Given the description of an element on the screen output the (x, y) to click on. 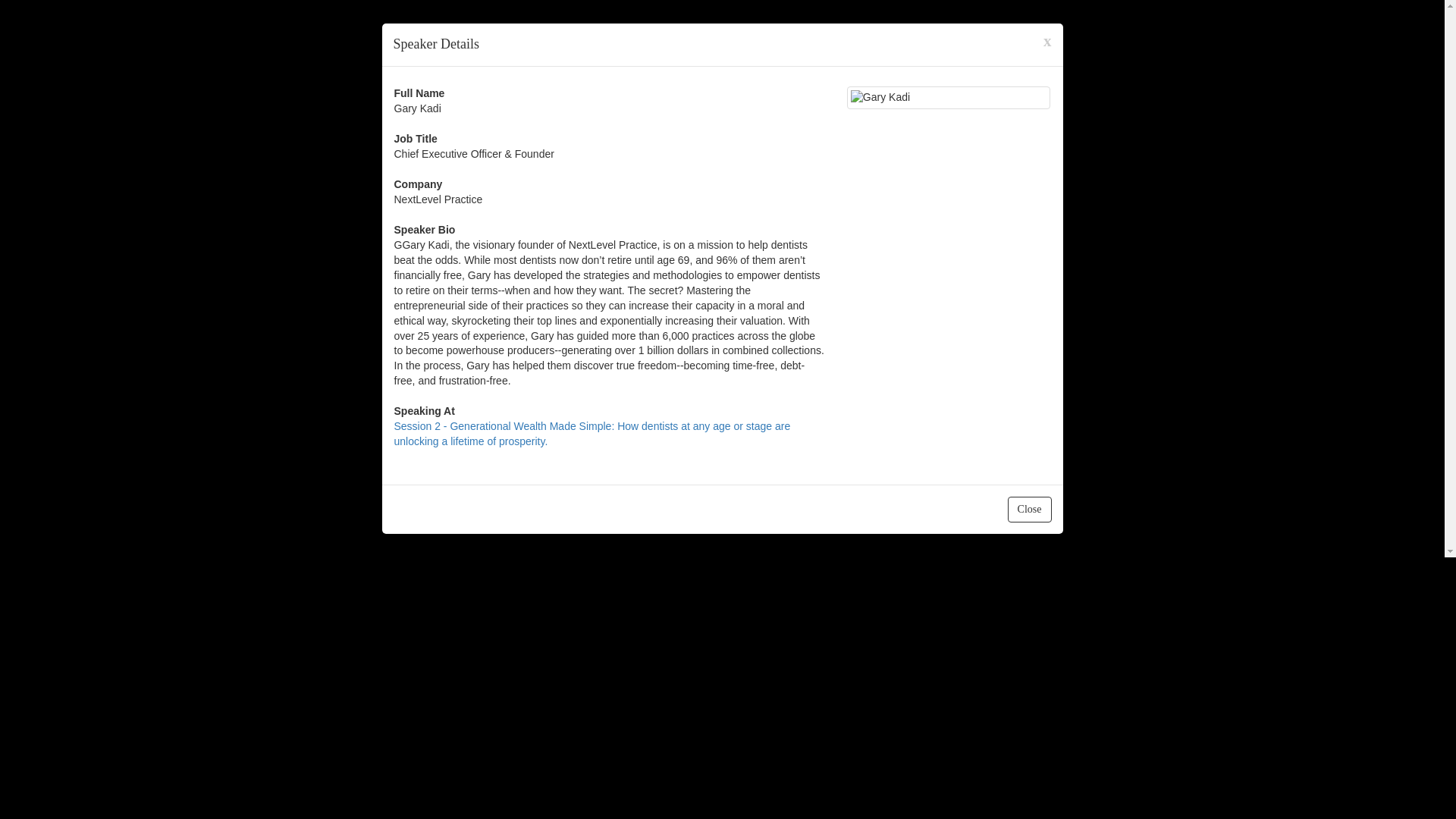
Close (1029, 509)
Session Details (592, 433)
